Given the description of an element on the screen output the (x, y) to click on. 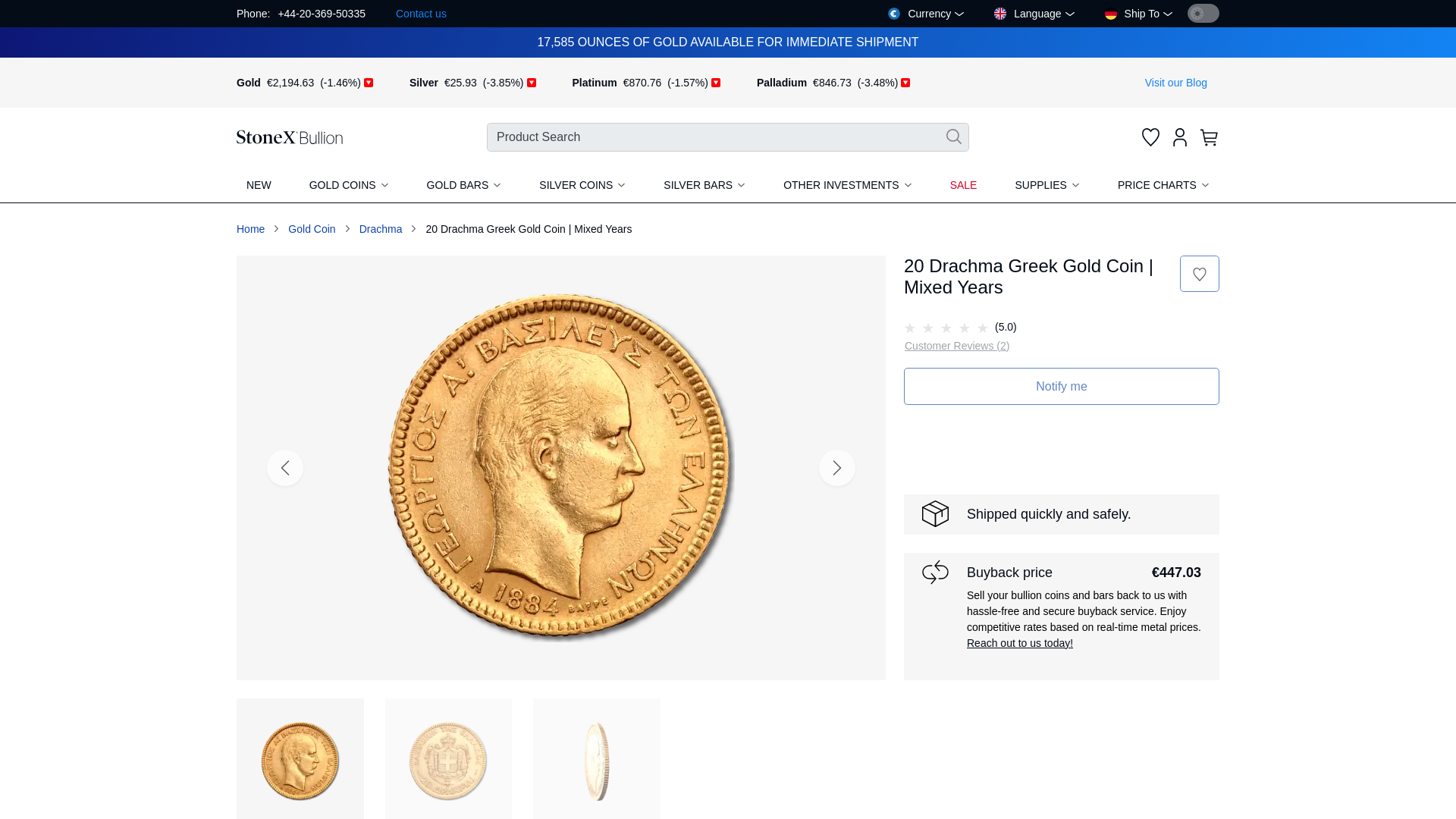
Currency (925, 13)
on (1204, 13)
StoneX Bullion (288, 136)
Ship To (1138, 13)
View cart (1209, 136)
Language (1033, 13)
Contact us (420, 13)
